Given the description of an element on the screen output the (x, y) to click on. 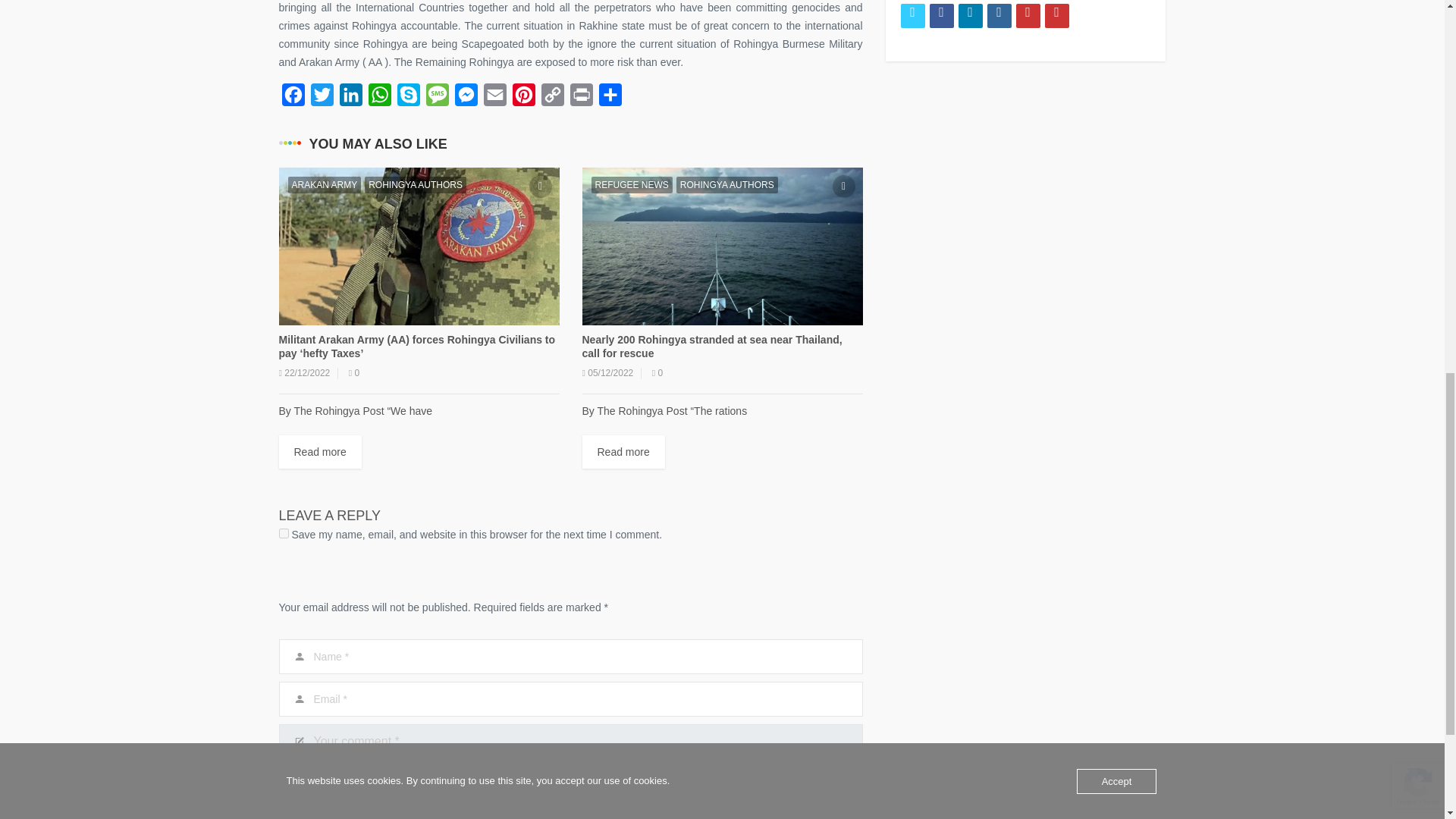
ARAKAN ARMY (324, 184)
Copy Link (552, 98)
Copy Link (552, 98)
Twitter (912, 15)
LinkedIn (350, 98)
Message (437, 98)
Print (581, 98)
Messenger (465, 98)
Facebook (293, 98)
ROHINGYA AUTHORS (415, 184)
WhatsApp (379, 98)
Skype (408, 98)
Email (494, 98)
Facebook (293, 98)
Twitter (321, 98)
